Given the description of an element on the screen output the (x, y) to click on. 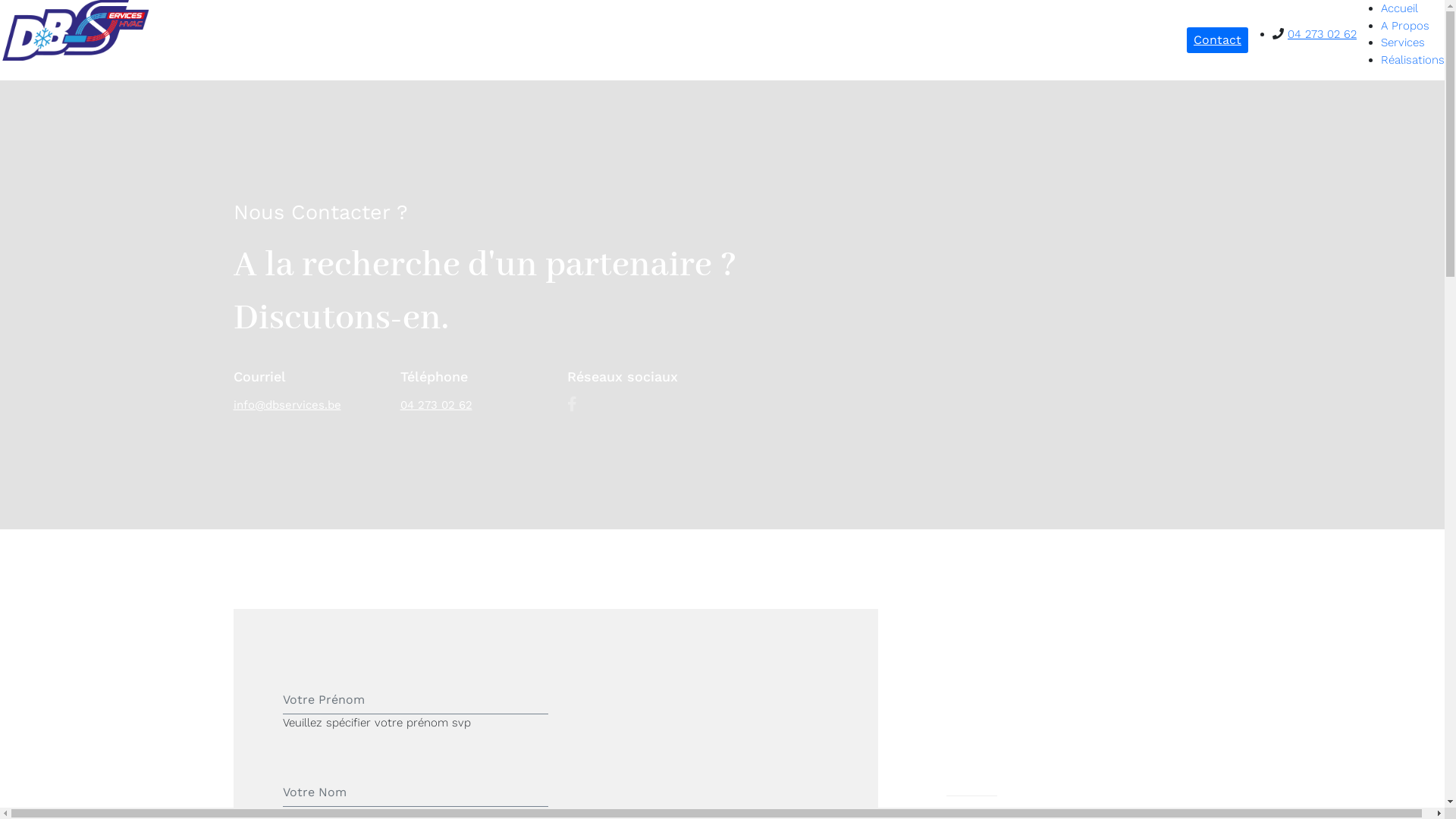
Contact Element type: text (1217, 40)
04 273 02 62 Element type: text (436, 404)
info@dbservices.be Element type: text (287, 404)
Icon group item Element type: hover (572, 403)
A Propos Element type: text (1404, 24)
Services Element type: text (1402, 42)
04 273 02 62 Element type: text (1321, 33)
Accueil Element type: text (1399, 8)
